Given the description of an element on the screen output the (x, y) to click on. 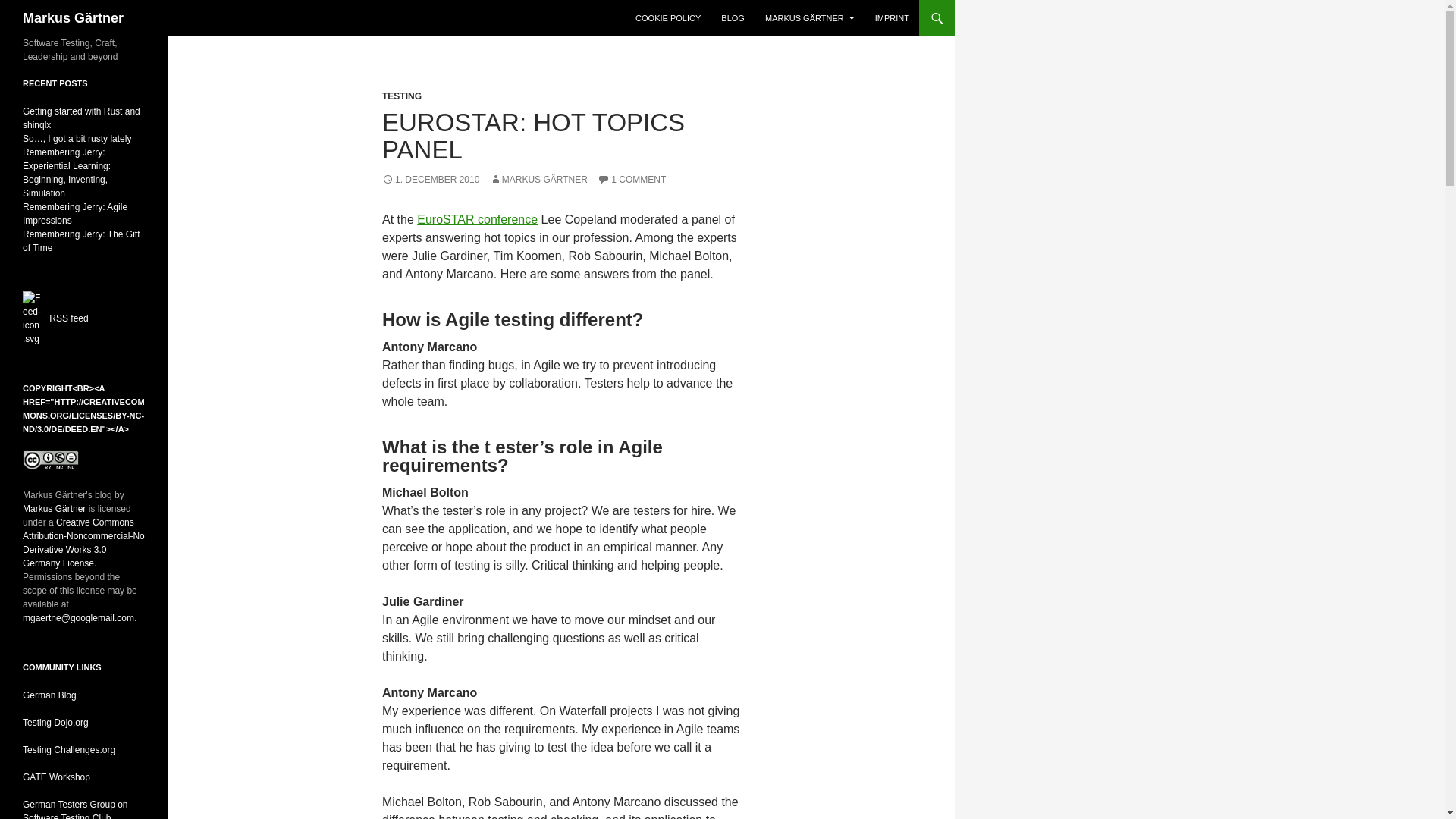
EuroSTAR conference (476, 219)
1 COMMENT (630, 179)
1. DECEMBER 2010 (430, 179)
Getting started with Rust and shinqlx (81, 118)
TESTING (401, 95)
IMPRINT (892, 18)
COOKIE POLICY (668, 18)
RSS feed (68, 317)
BLOG (732, 18)
